Given the description of an element on the screen output the (x, y) to click on. 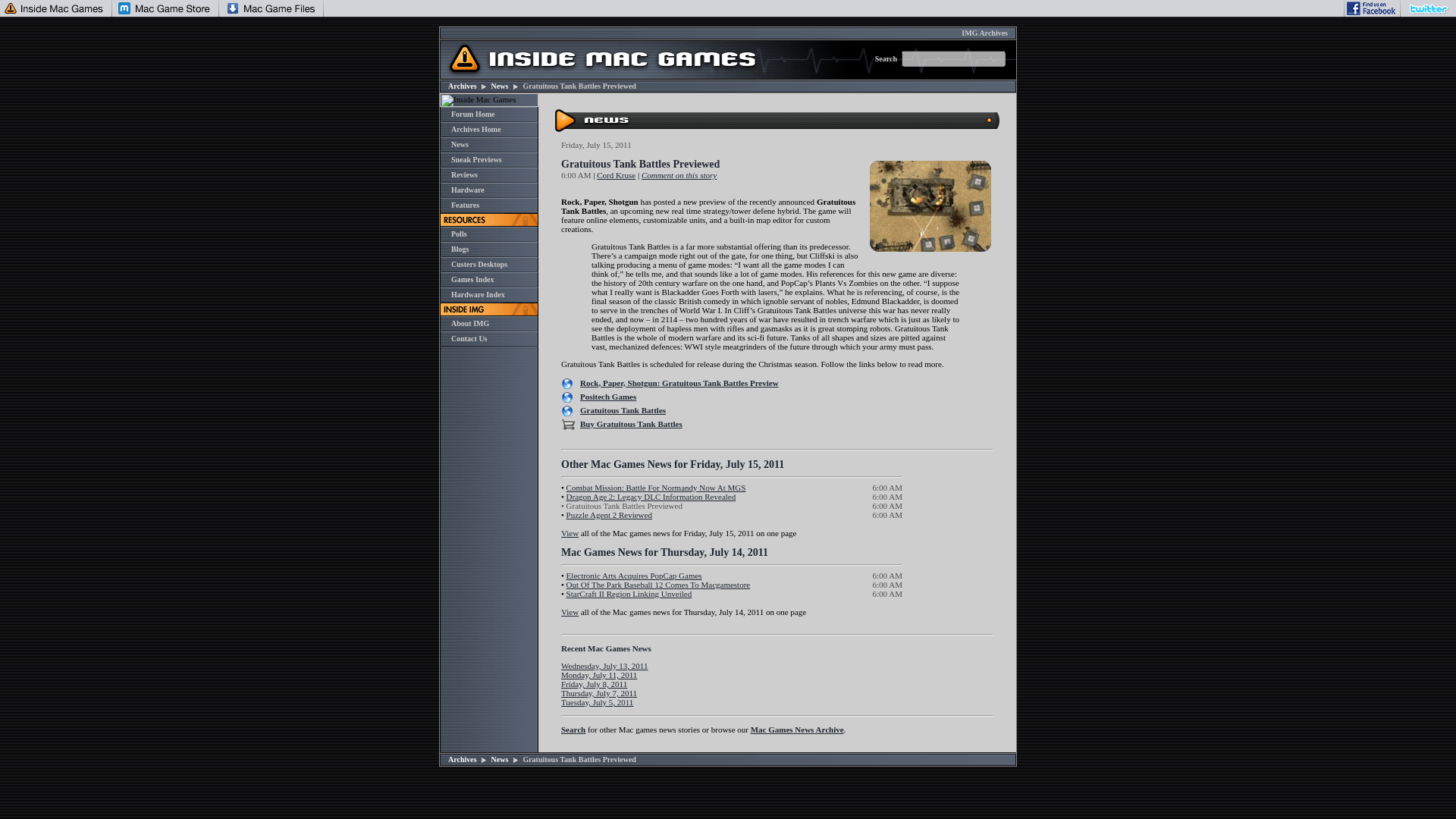
Hardware (467, 189)
Reviews (464, 174)
Electronic Arts Acquires PopCap Games (633, 574)
Features (465, 204)
Puzzle Agent 2 Reviewed (609, 514)
Friday, July 8, 2011 (593, 683)
Forum Home (473, 113)
Wednesday, July 13, 2011 (603, 665)
Games Index (472, 279)
Monday, July 11, 2011 (598, 674)
